Given the description of an element on the screen output the (x, y) to click on. 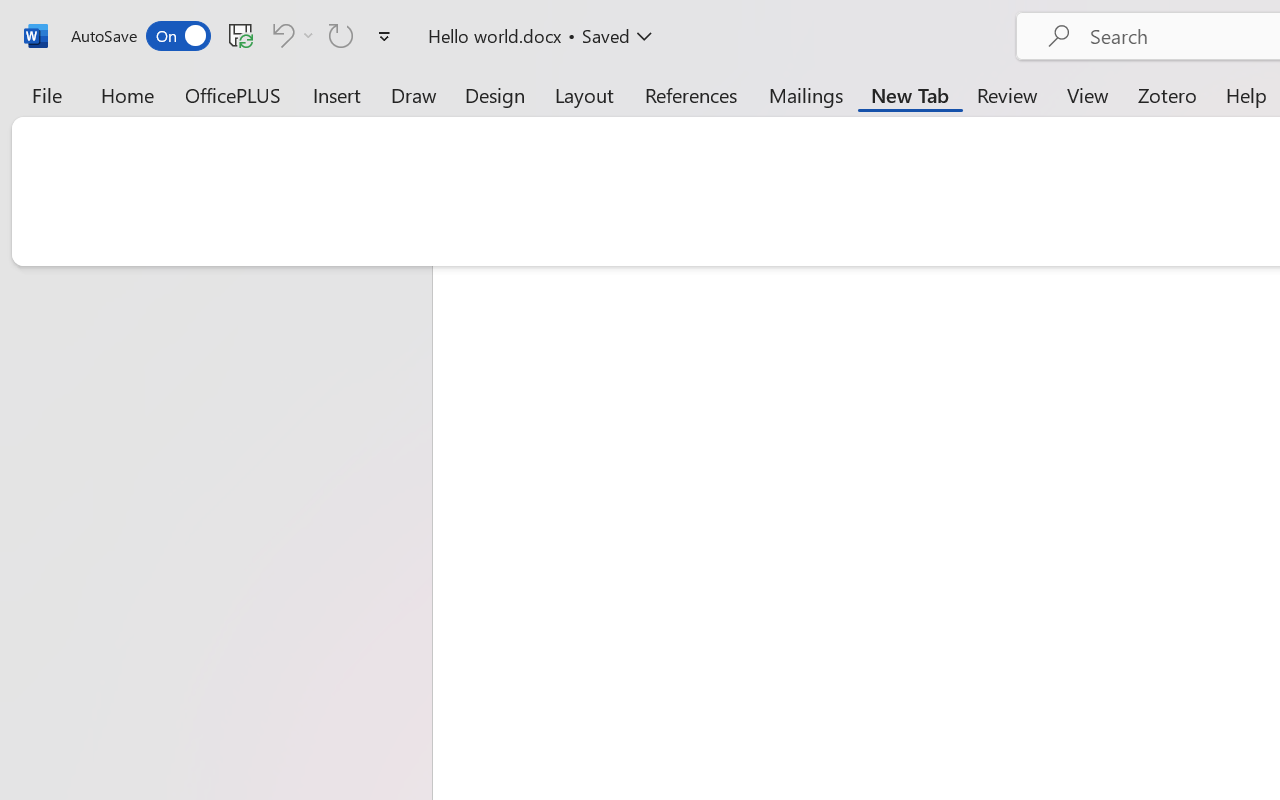
Mailings (806, 94)
References (690, 94)
Review (1007, 94)
AutoSave (140, 35)
Can't Repeat (341, 35)
Insert (337, 94)
New Tab (909, 94)
Customize Quick Access Toolbar (384, 35)
